Given the description of an element on the screen output the (x, y) to click on. 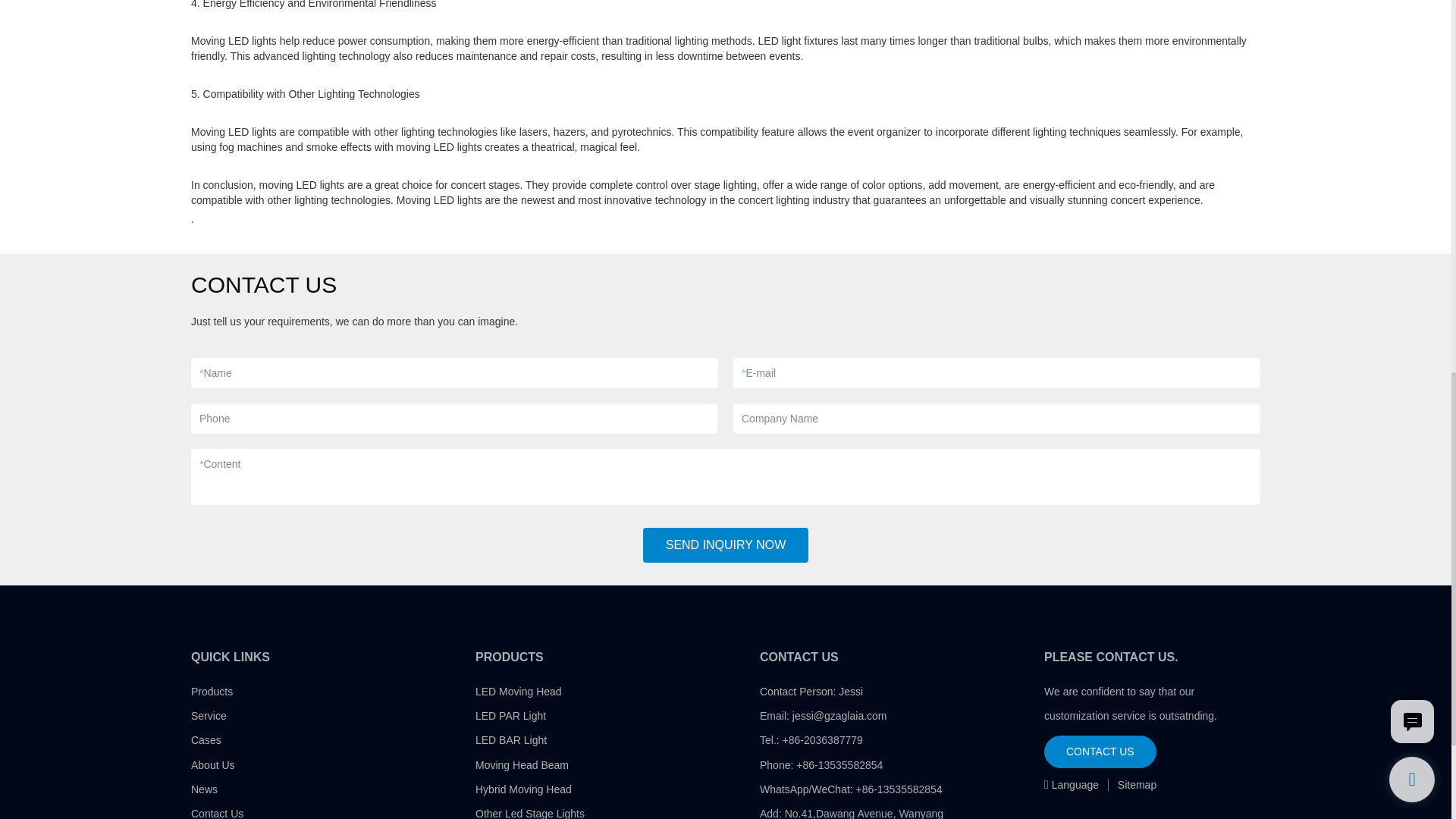
LED Moving Head (519, 691)
LED PAR Light (511, 715)
News (203, 788)
Other Led Stage Lights (530, 813)
Hybrid Moving Head (524, 788)
CONTACT US (1099, 751)
SEND INQUIRY NOW (726, 544)
Contact Us (216, 813)
LED BAR Light (511, 739)
Cases (205, 739)
Moving Head Beam (522, 765)
About Us (212, 765)
Products (211, 691)
Service (208, 715)
